Given the description of an element on the screen output the (x, y) to click on. 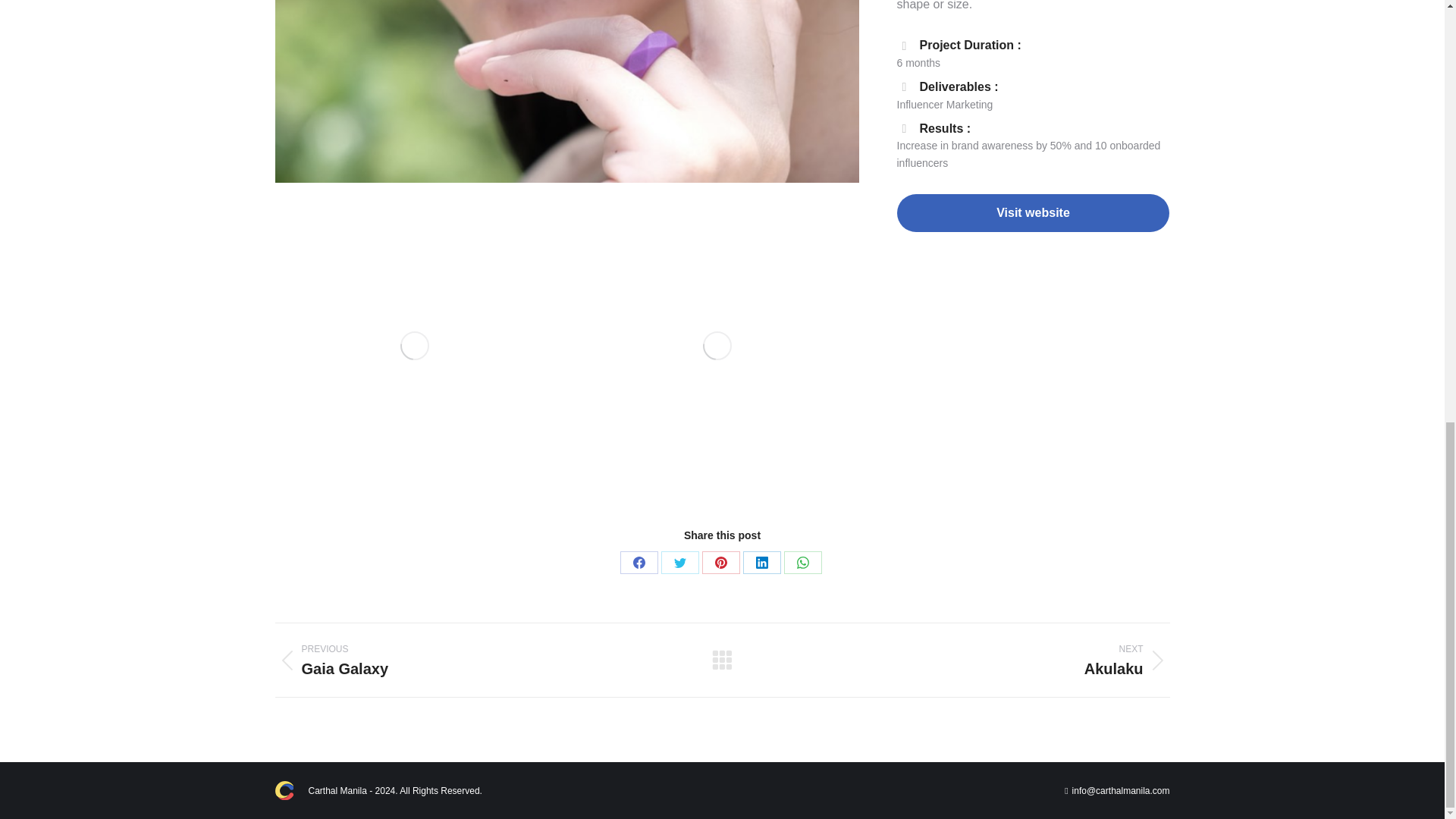
Pinterest (720, 562)
Screen Shot 2022-06-24 at 11.55.29 AM (414, 345)
Facebook (639, 562)
Screen Shot 2022-06-24 at 11.54.55 AM (567, 91)
WhatsApp (803, 562)
Twitter (679, 562)
Screen Shot 2022-06-24 at 11.55.06 AM (717, 345)
LinkedIn (761, 562)
